Given the description of an element on the screen output the (x, y) to click on. 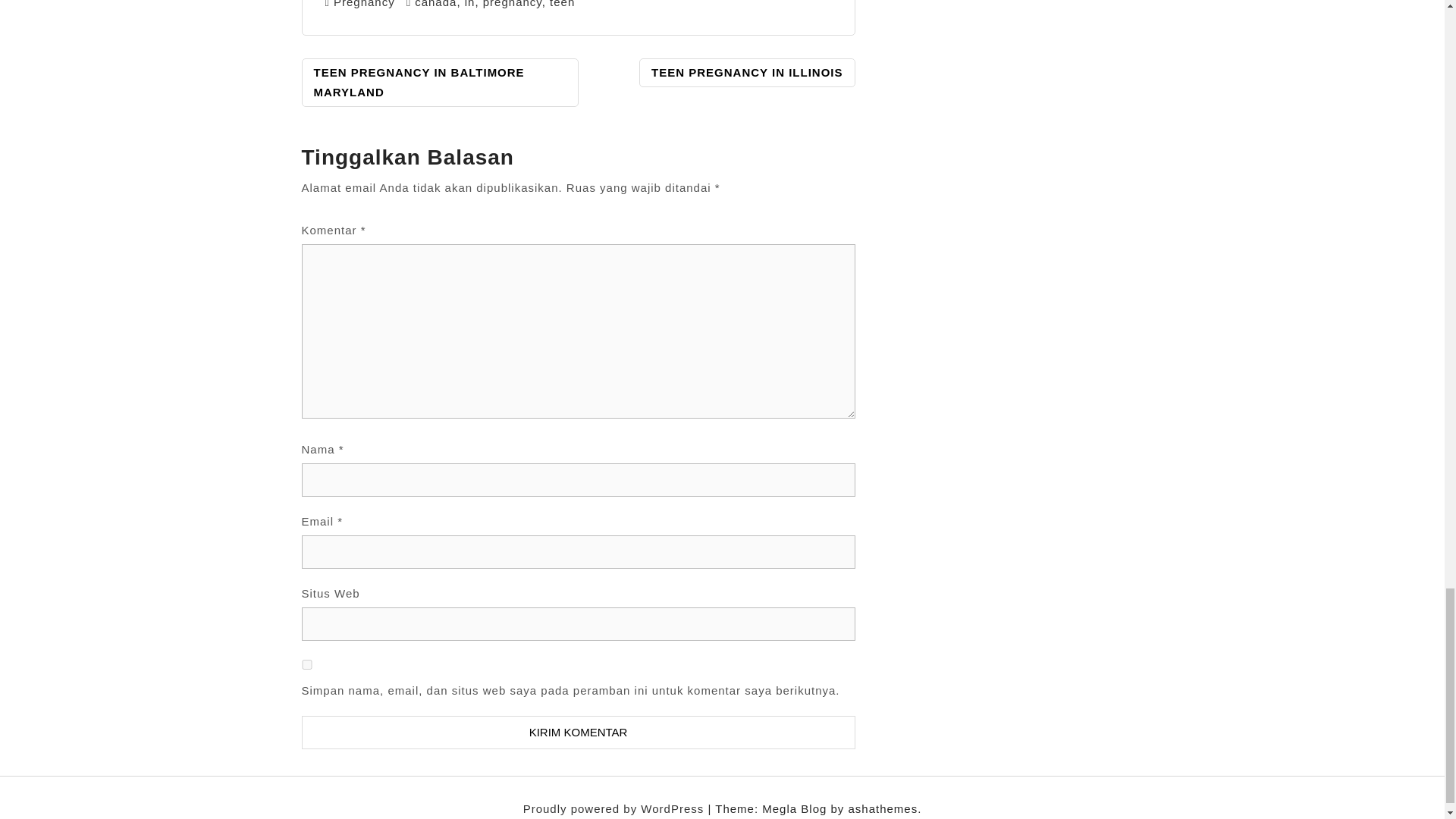
TEEN PREGNANCY IN ILLINOIS (746, 72)
yes (307, 664)
pregnancy (512, 4)
Kirim Komentar (578, 732)
canada (435, 4)
TEEN PREGNANCY IN BALTIMORE MARYLAND (439, 82)
teen (562, 4)
Kirim Komentar (578, 732)
Proudly powered by WordPress (614, 808)
Pregnancy (363, 4)
in (470, 4)
